Given the description of an element on the screen output the (x, y) to click on. 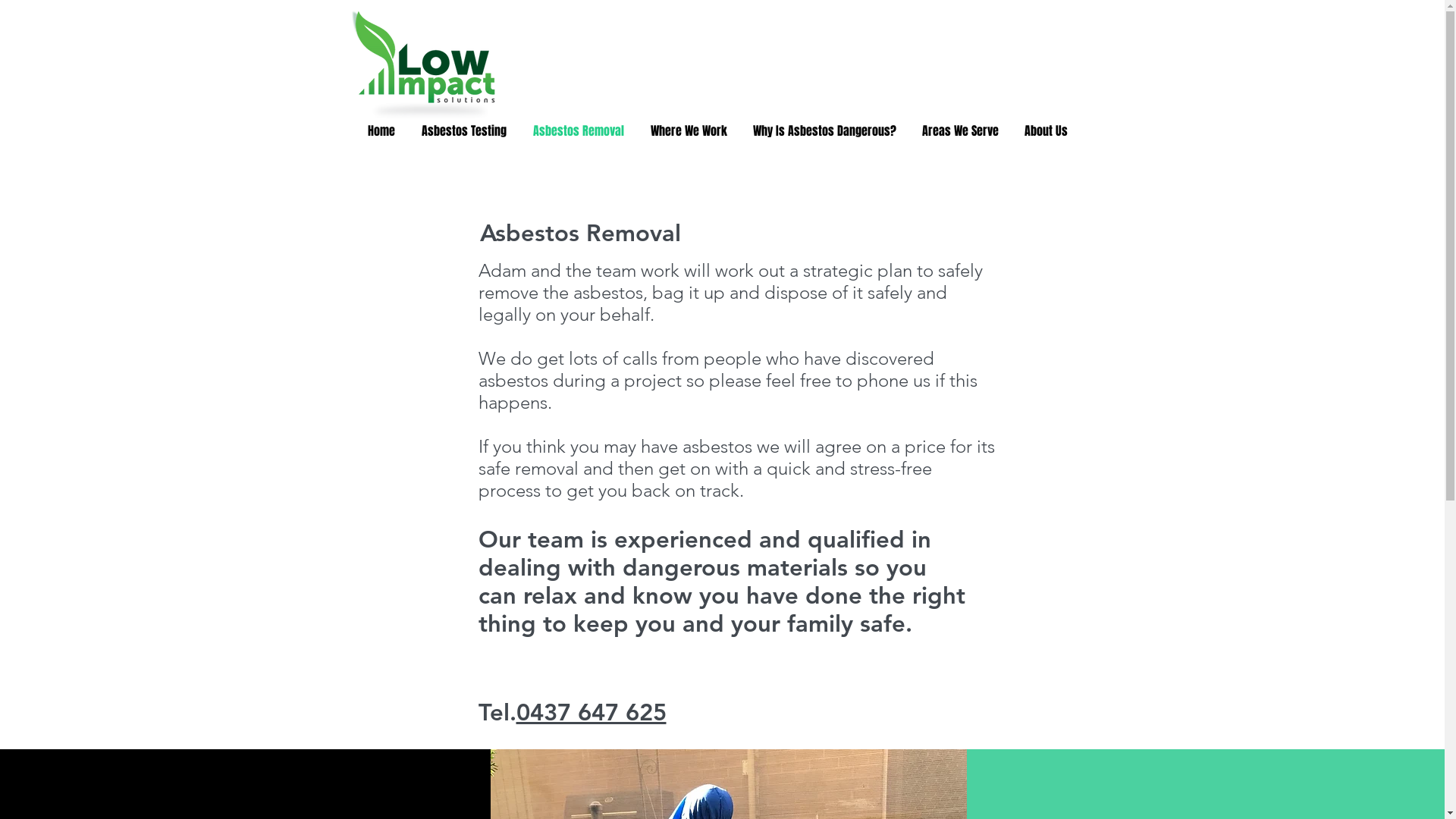
0437 647 625 Element type: text (590, 712)
Asbestos Testing Element type: text (463, 130)
Home Element type: text (381, 130)
Areas We Serve Element type: text (959, 130)
Why Is Asbestos Dangerous? Element type: text (824, 130)
About Us Element type: text (1045, 130)
Asbestos Removal Element type: text (578, 130)
Where We Work Element type: text (688, 130)
Asbestos Removal Element type: text (579, 233)
